Given the description of an element on the screen output the (x, y) to click on. 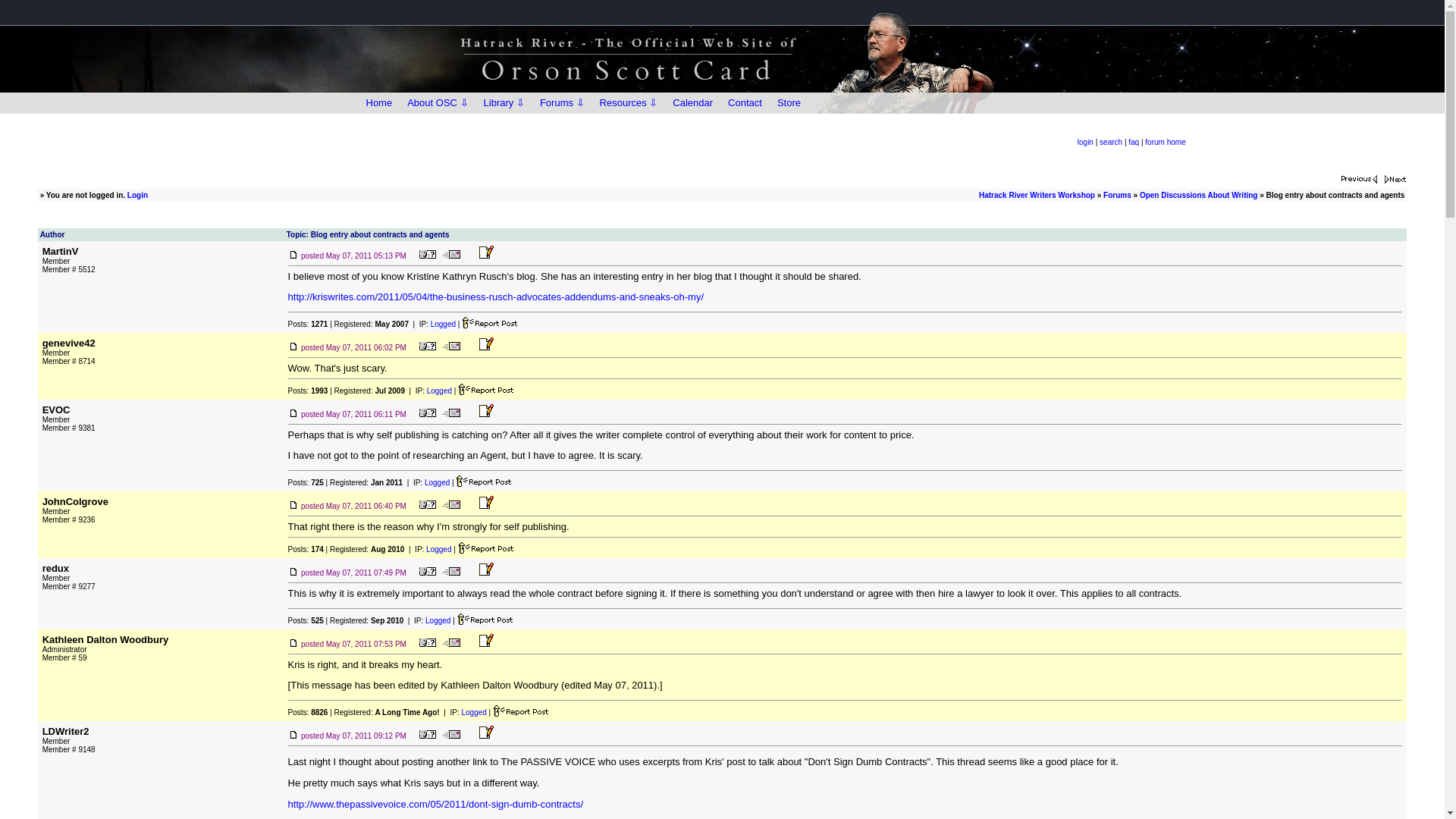
Log in to post and check your profile (1085, 142)
Forums (1117, 194)
Store (789, 102)
Frequently Asked Questions (1133, 142)
forum home (1164, 142)
Home (378, 102)
Calendar (692, 102)
Search (1110, 142)
Contact (745, 102)
Report this post to a Moderator (485, 618)
